Given the description of an element on the screen output the (x, y) to click on. 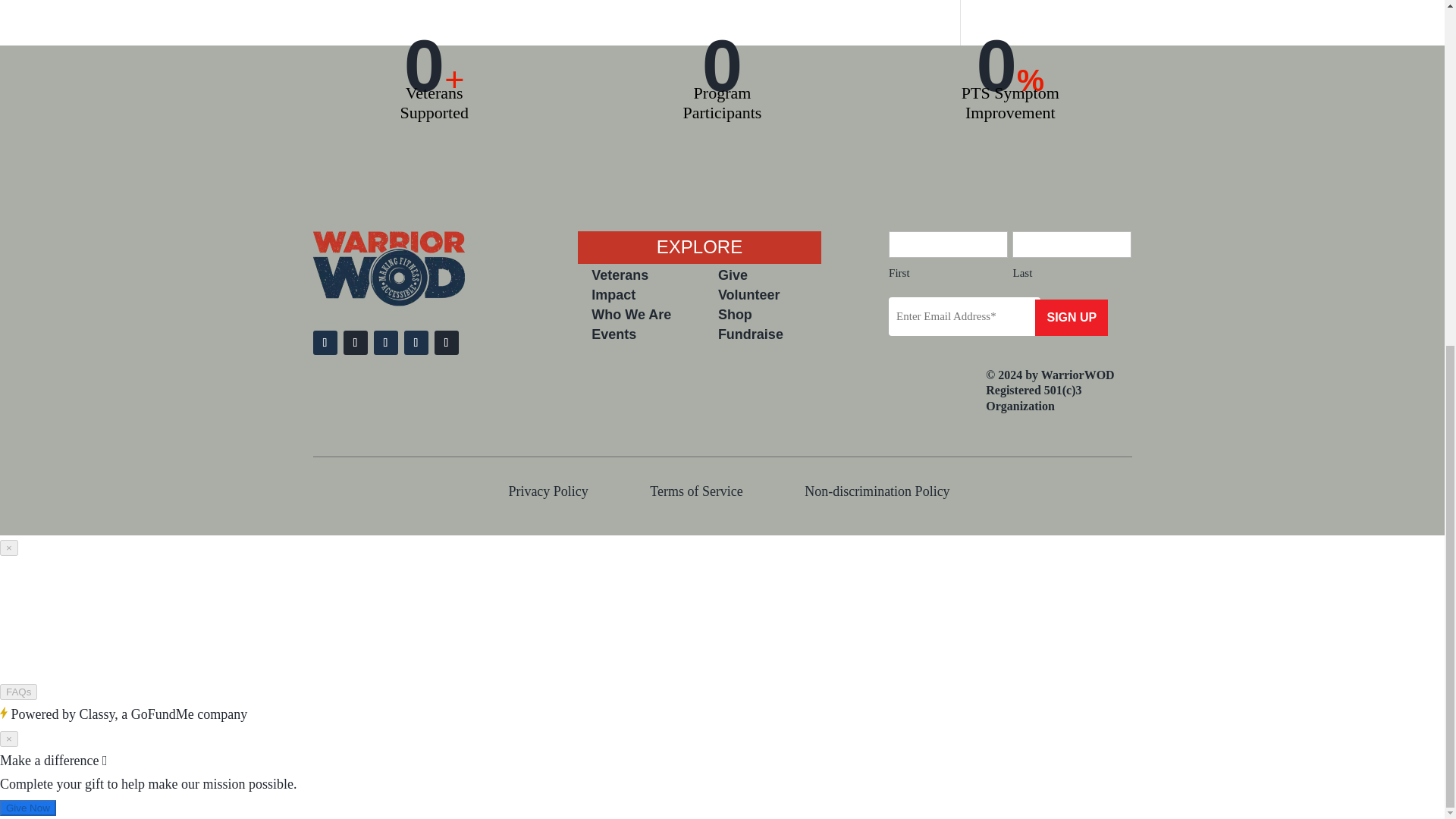
Follow on LinkedIn (415, 342)
Sign Up (1071, 317)
Platinum-Transparency-2023-Candid (911, 408)
Follow on TikTok (445, 342)
Follow on Facebook (324, 342)
Follow on Instagram (354, 342)
JeffersonAward-emblem (959, 408)
Follow on Youtube (384, 342)
WarriorWOD-PrimaryLogo-Transparent (388, 301)
